Given the description of an element on the screen output the (x, y) to click on. 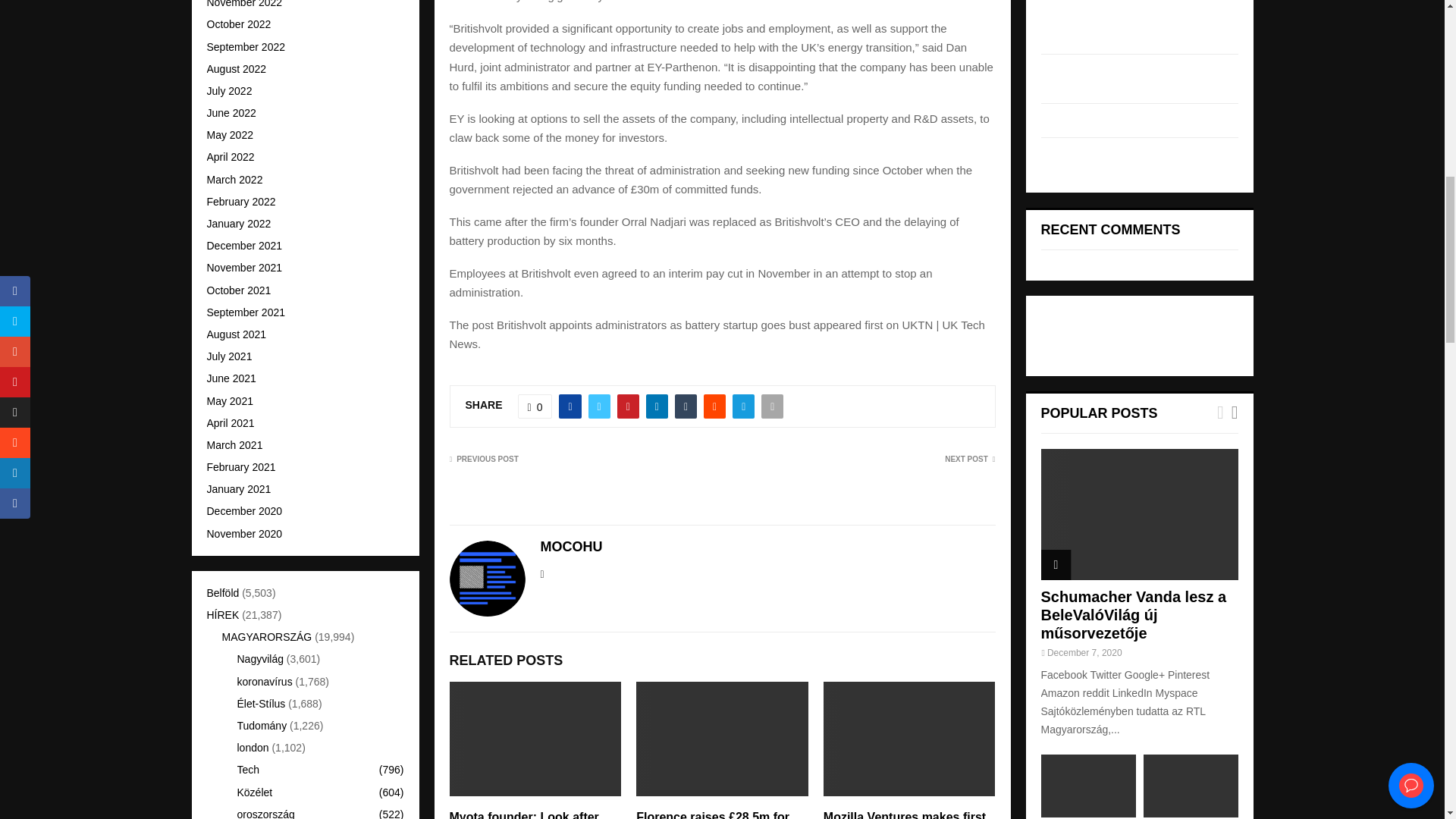
Like (535, 405)
